Given the description of an element on the screen output the (x, y) to click on. 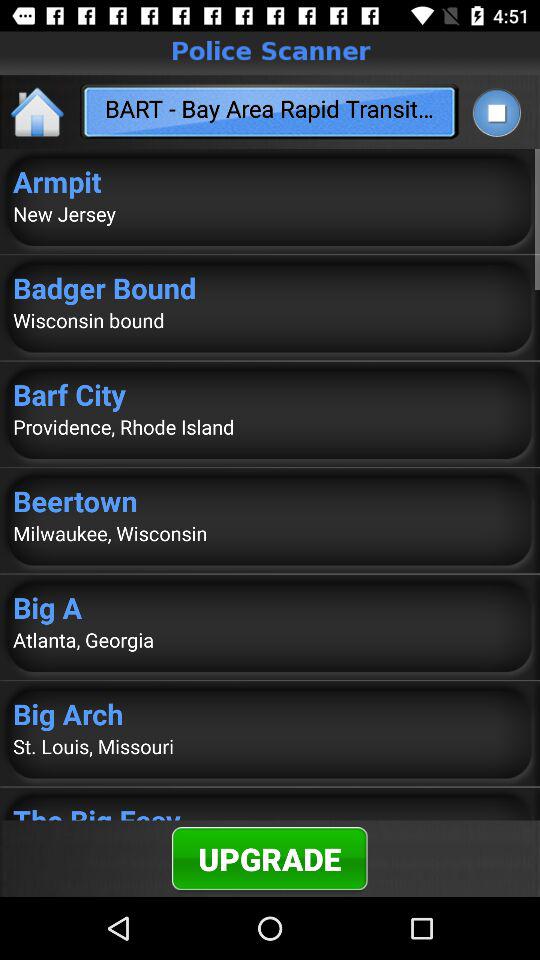
launch the milwaukee, wisconsin icon (269, 533)
